Given the description of an element on the screen output the (x, y) to click on. 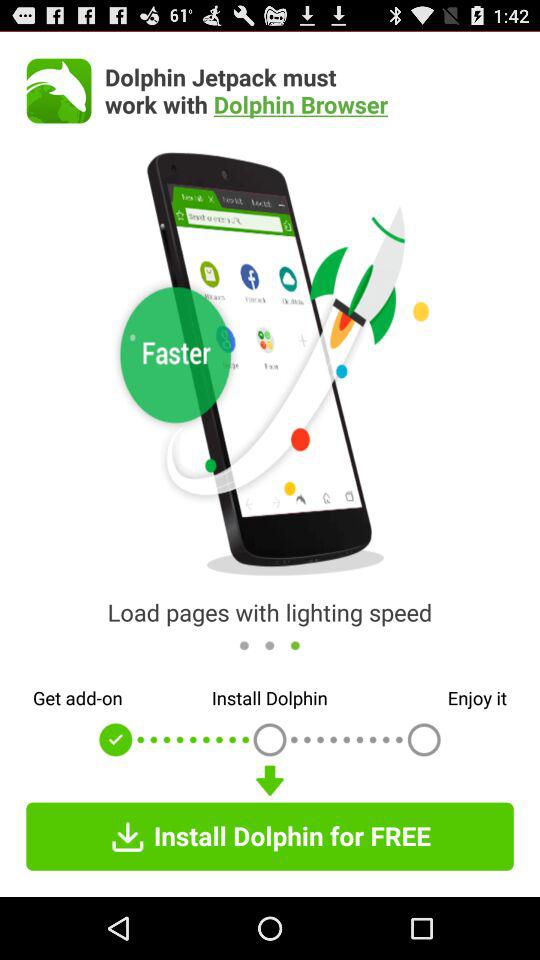
select item at the top (309, 90)
